Given the description of an element on the screen output the (x, y) to click on. 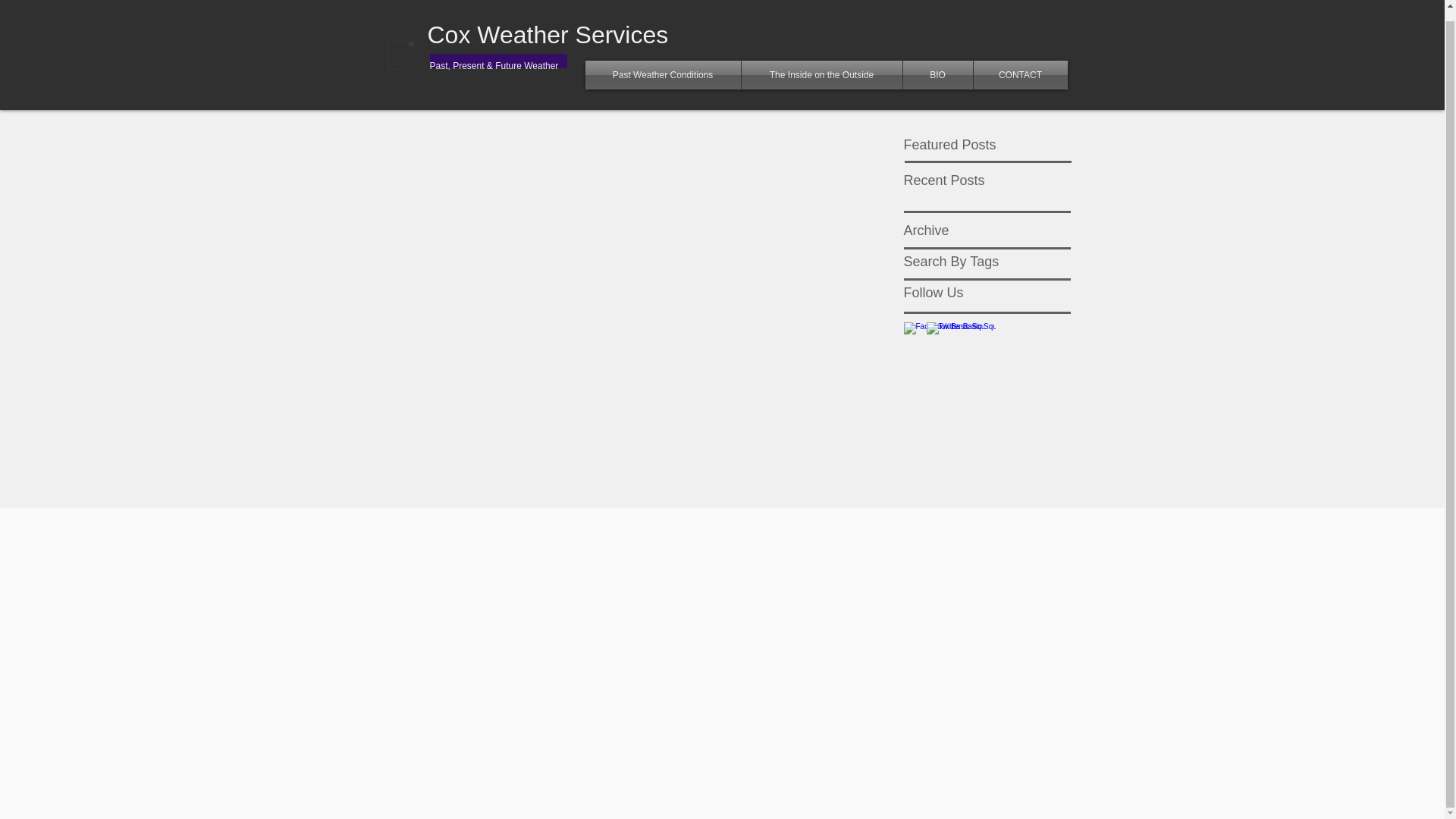
BIO (937, 74)
logo.jpg (416, 70)
CONTACT (1020, 74)
The Inside on the Outside (821, 74)
Past Weather Conditions (663, 74)
Cox Weather Services (548, 34)
